Given the description of an element on the screen output the (x, y) to click on. 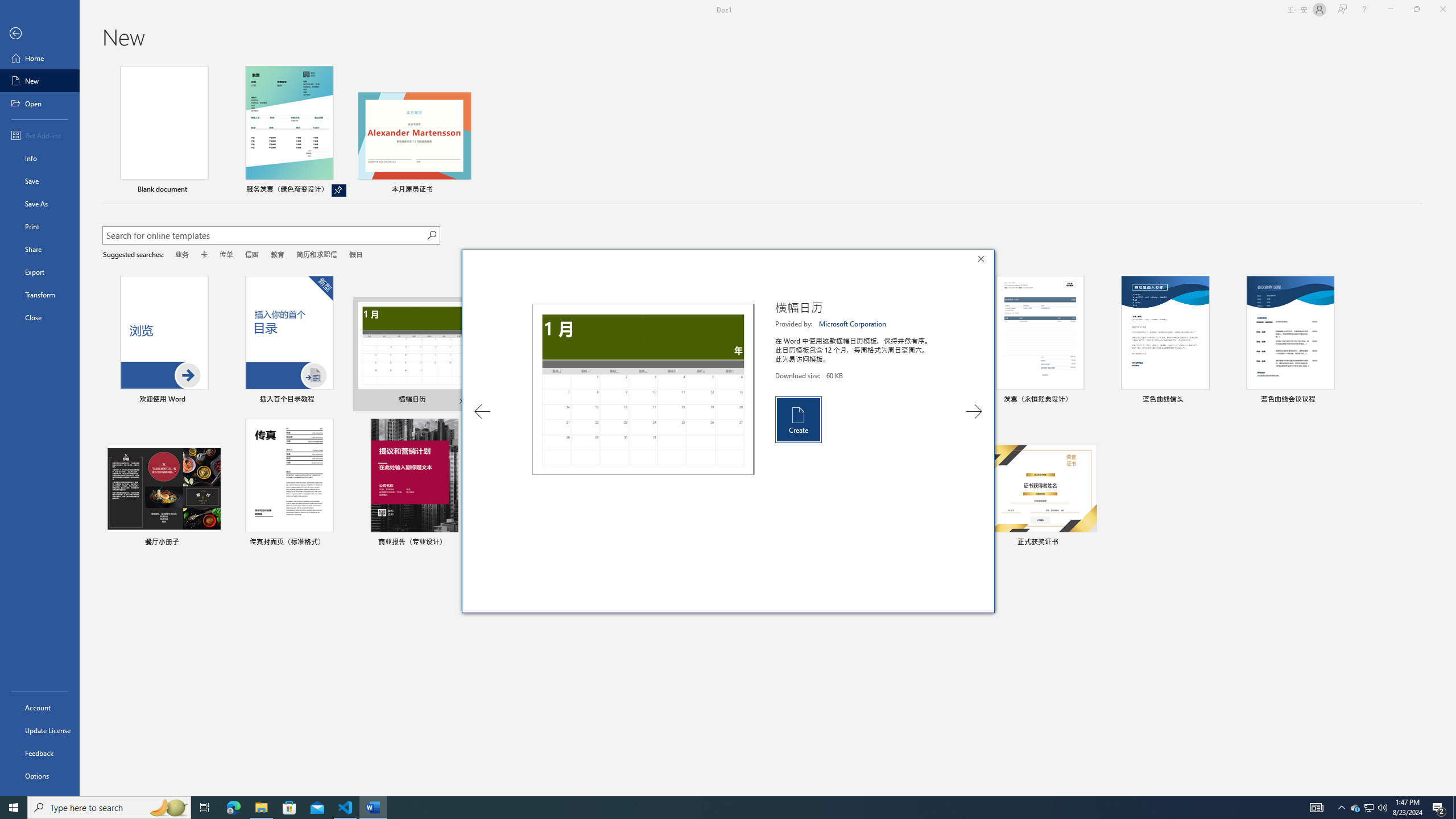
Show desktop (1454, 807)
Visual Studio Code - 1 running window (345, 807)
Options (40, 775)
Create (797, 419)
Feedback (40, 753)
Back (40, 33)
Type here to search (108, 807)
Next Template (974, 411)
Microsoft Store (289, 807)
